Given the description of an element on the screen output the (x, y) to click on. 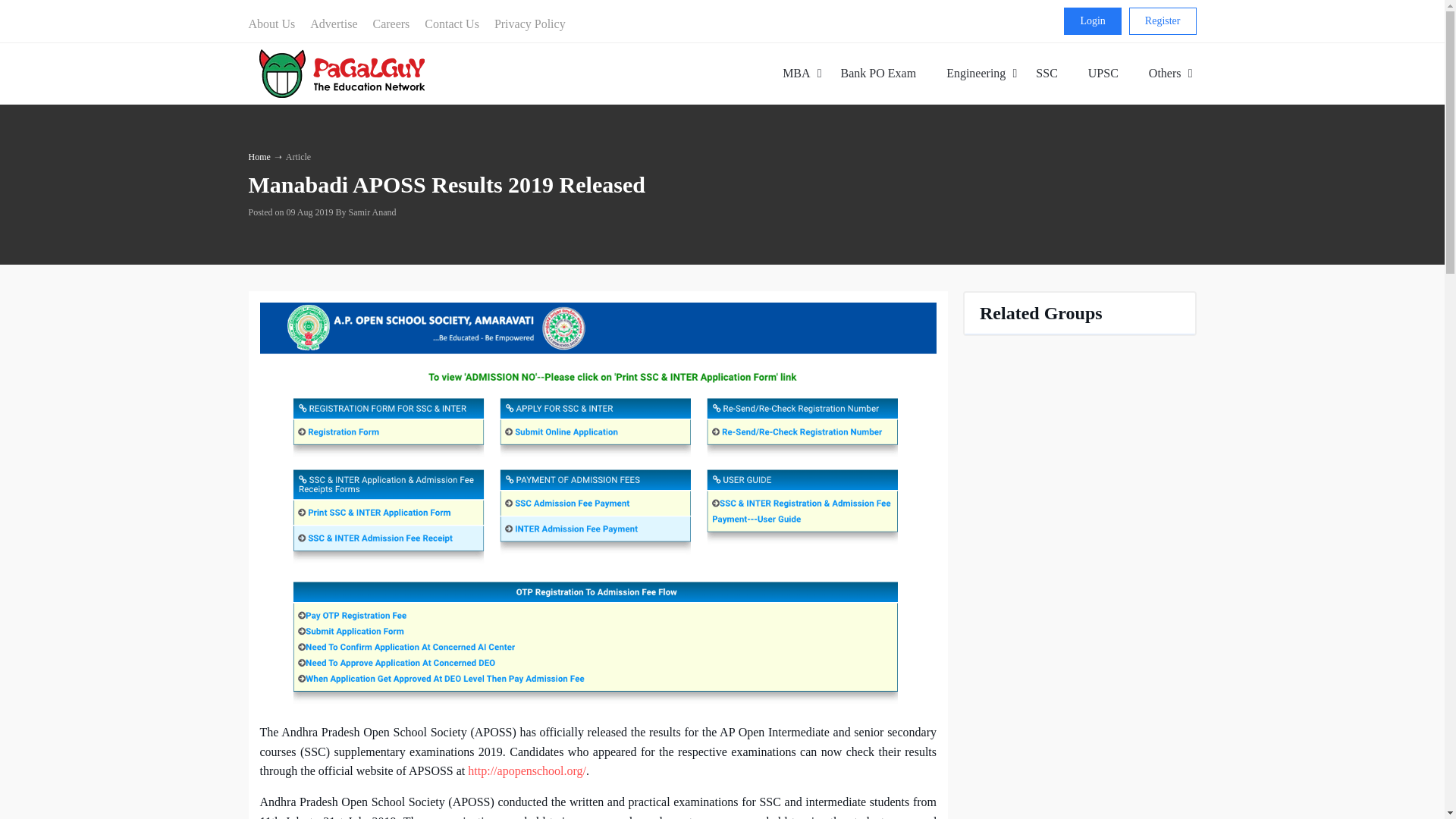
Register (1162, 21)
MBA (796, 73)
Login (1092, 21)
Careers (390, 24)
Contact Us (451, 24)
Advertise (981, 73)
Privacy Policy (333, 24)
About Us (529, 24)
